Given the description of an element on the screen output the (x, y) to click on. 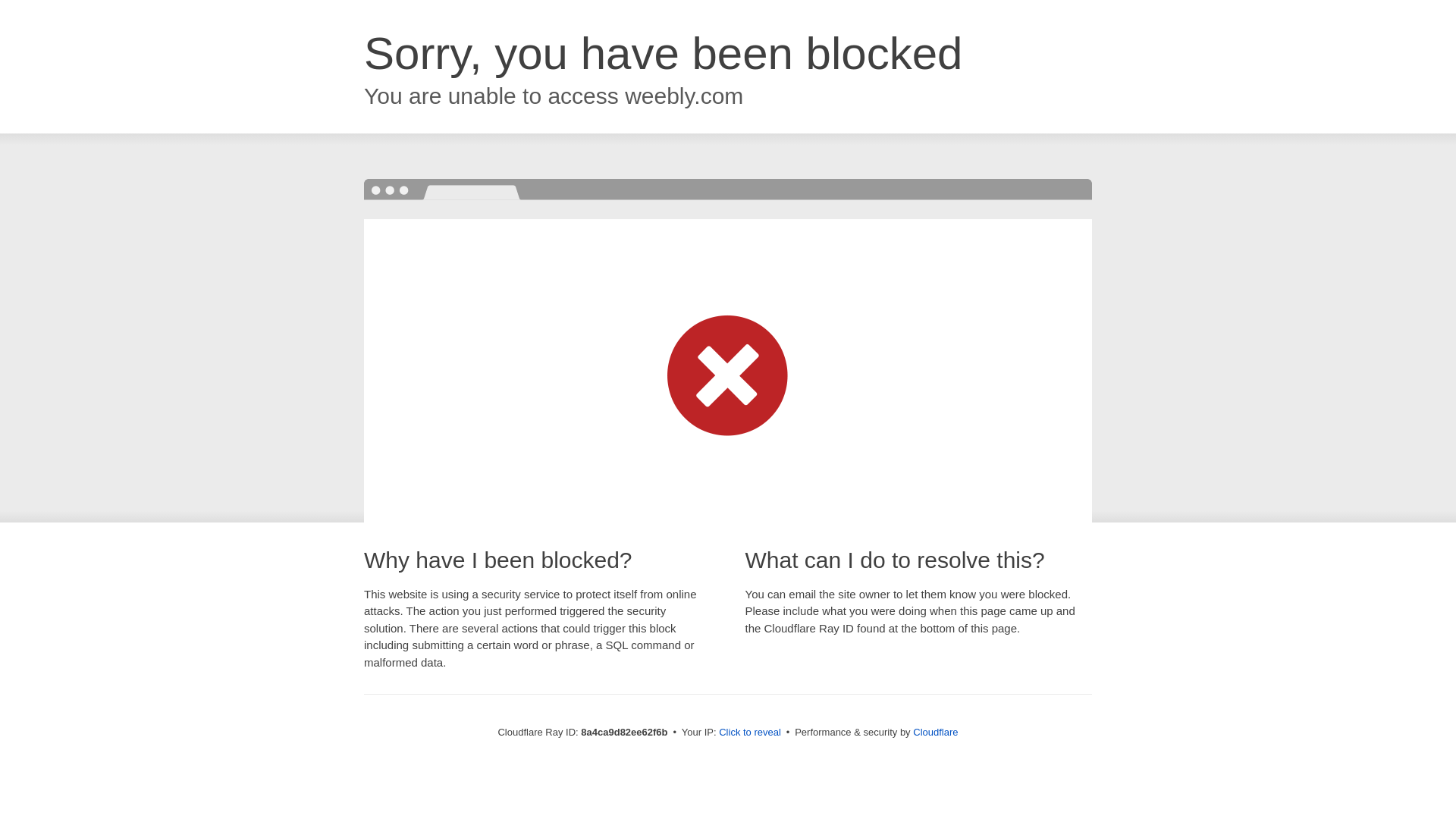
Click to reveal (749, 732)
Cloudflare (935, 731)
